Given the description of an element on the screen output the (x, y) to click on. 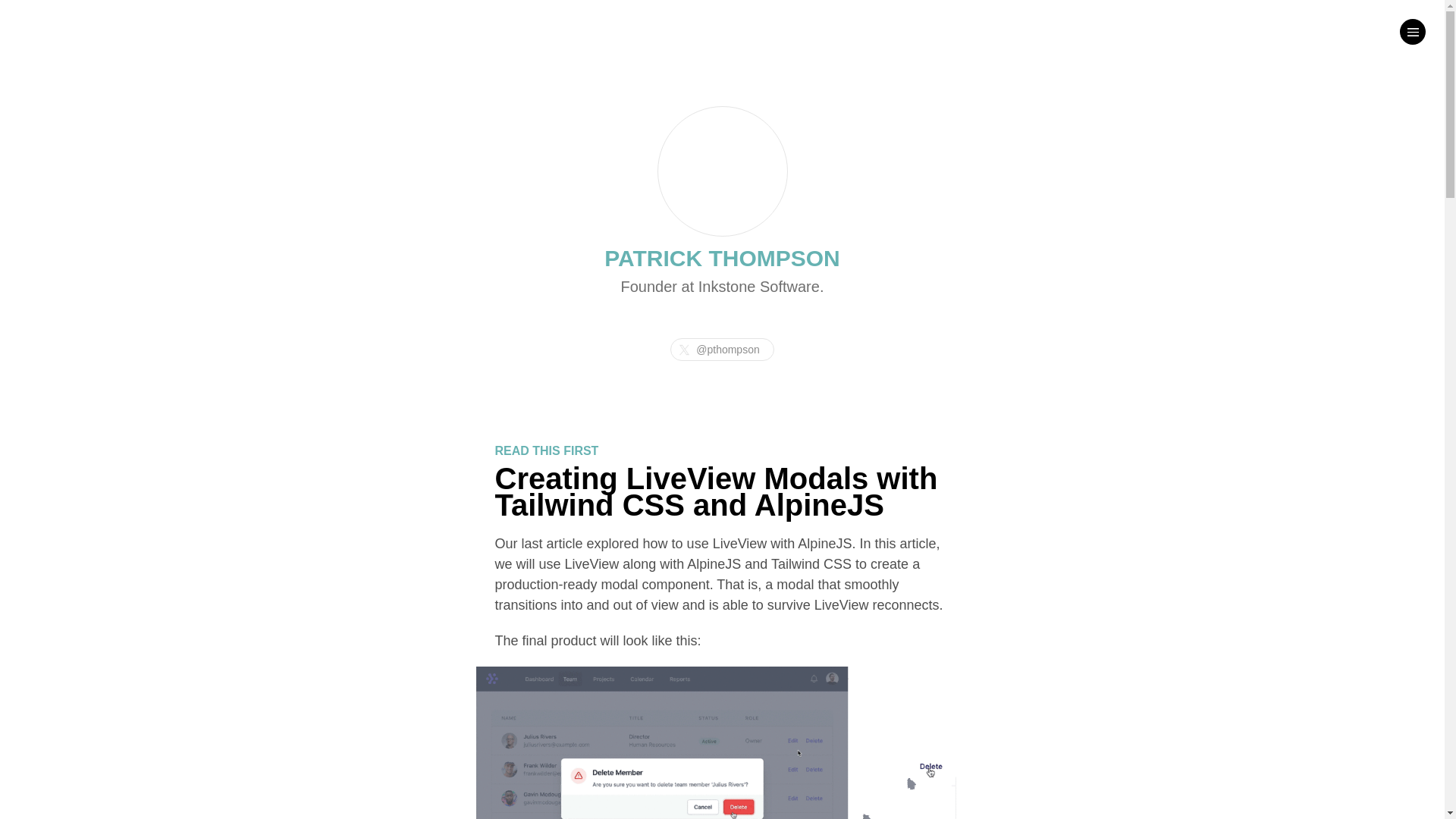
Svbtle (32, 30)
Menu (1412, 31)
PATRICK THOMPSON (722, 258)
Creating LiveView Modals with Tailwind CSS and AlpineJS (716, 491)
Patrick Thompson (722, 170)
